Given the description of an element on the screen output the (x, y) to click on. 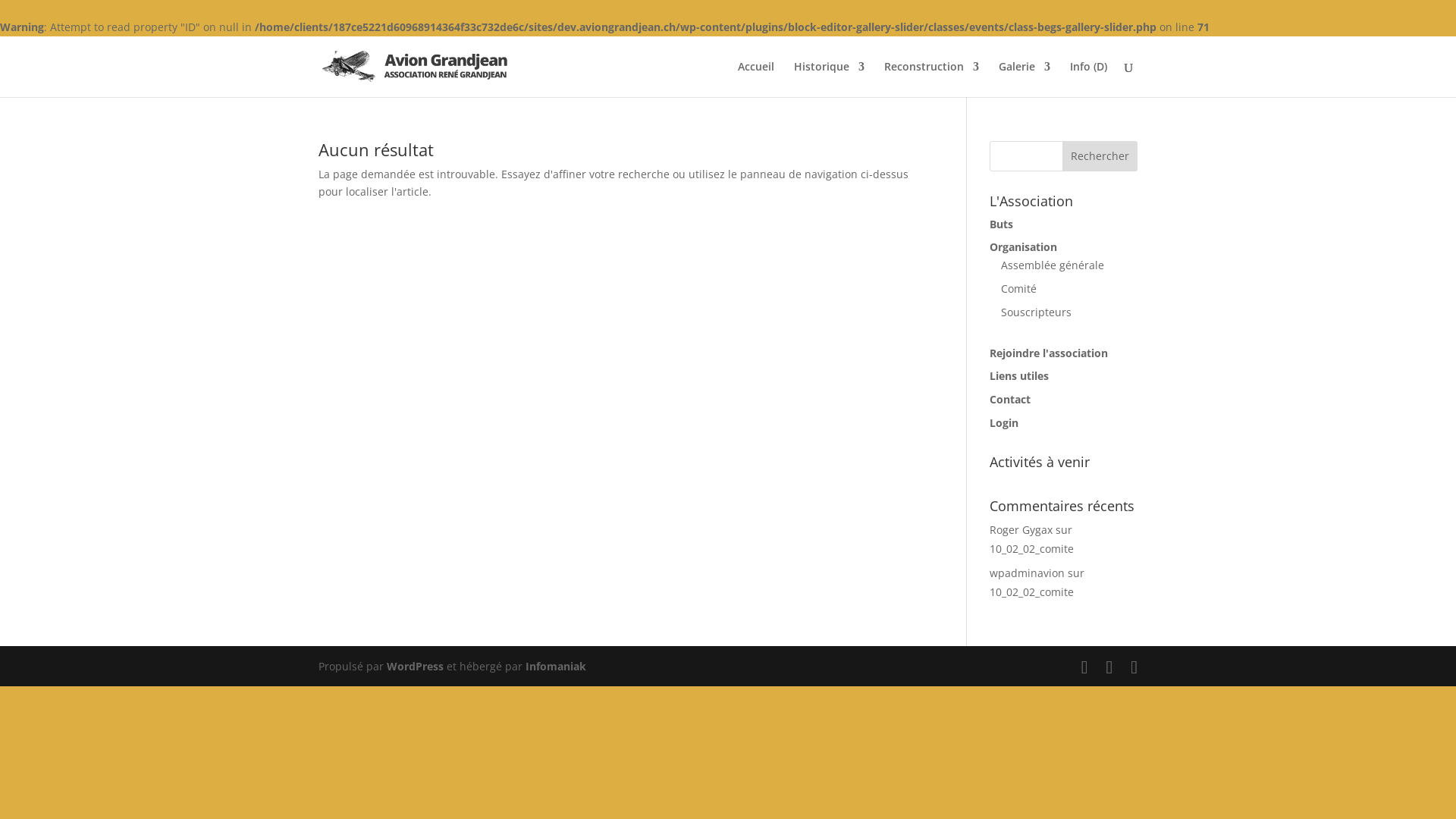
Contact Element type: text (1009, 399)
wpadminavion Element type: text (1026, 572)
Souscripteurs Element type: text (1036, 311)
Accueil Element type: text (755, 79)
Reconstruction Element type: text (931, 79)
Rechercher Element type: text (1099, 156)
10_02_02_comite Element type: text (1031, 591)
Rejoindre l'association Element type: text (1048, 352)
10_02_02_comite Element type: text (1031, 548)
Buts Element type: text (1001, 223)
Galerie Element type: text (1024, 79)
Info (D) Element type: text (1088, 79)
Roger Gygax Element type: text (1020, 529)
Login Element type: text (1003, 422)
WordPress Element type: text (414, 665)
Liens utiles Element type: text (1018, 375)
Historique Element type: text (828, 79)
Infomaniak Element type: text (555, 665)
